Given the description of an element on the screen output the (x, y) to click on. 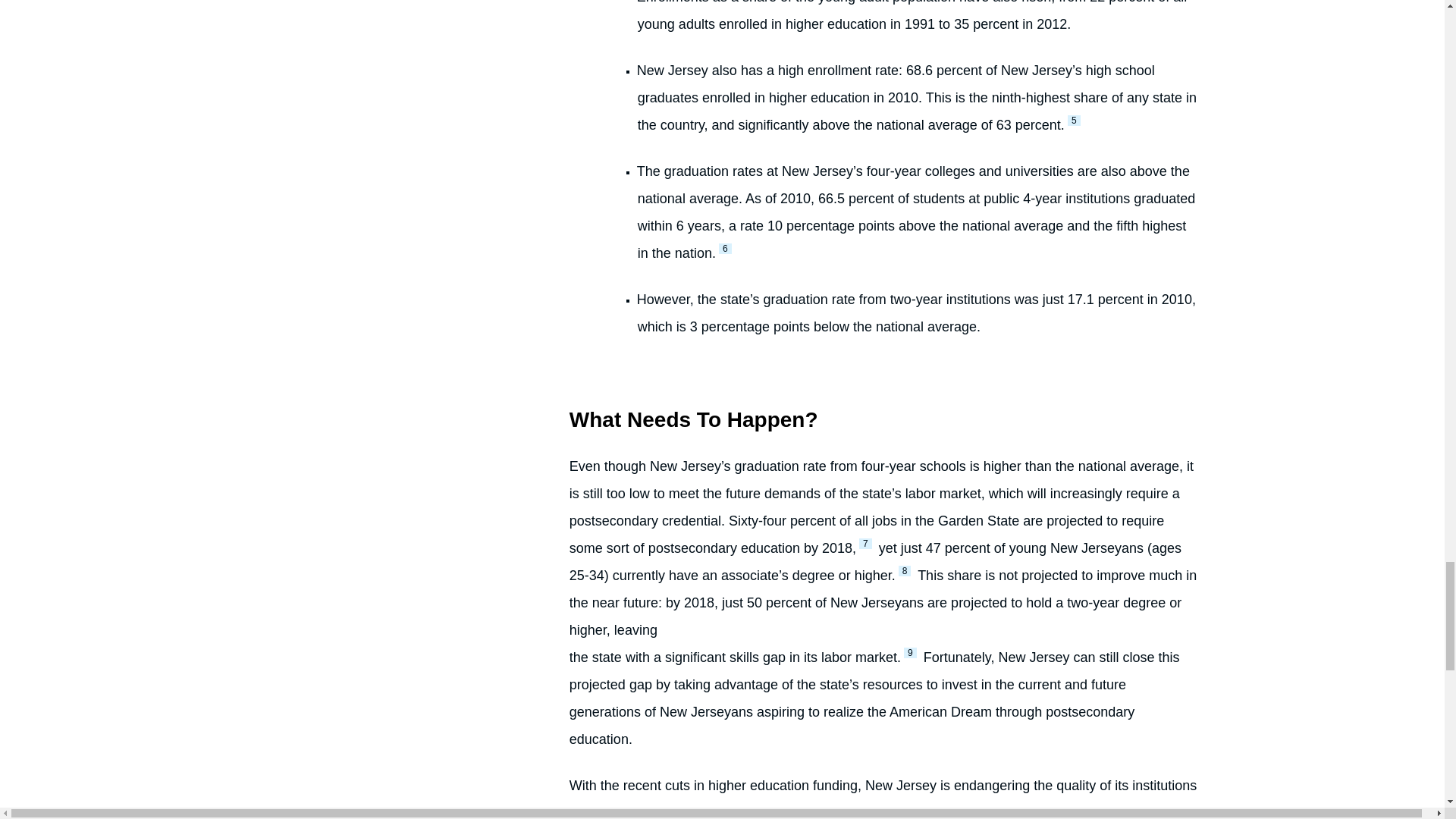
9 (910, 652)
5 (1073, 120)
8 (904, 570)
6 (725, 248)
7 (865, 543)
